Given the description of an element on the screen output the (x, y) to click on. 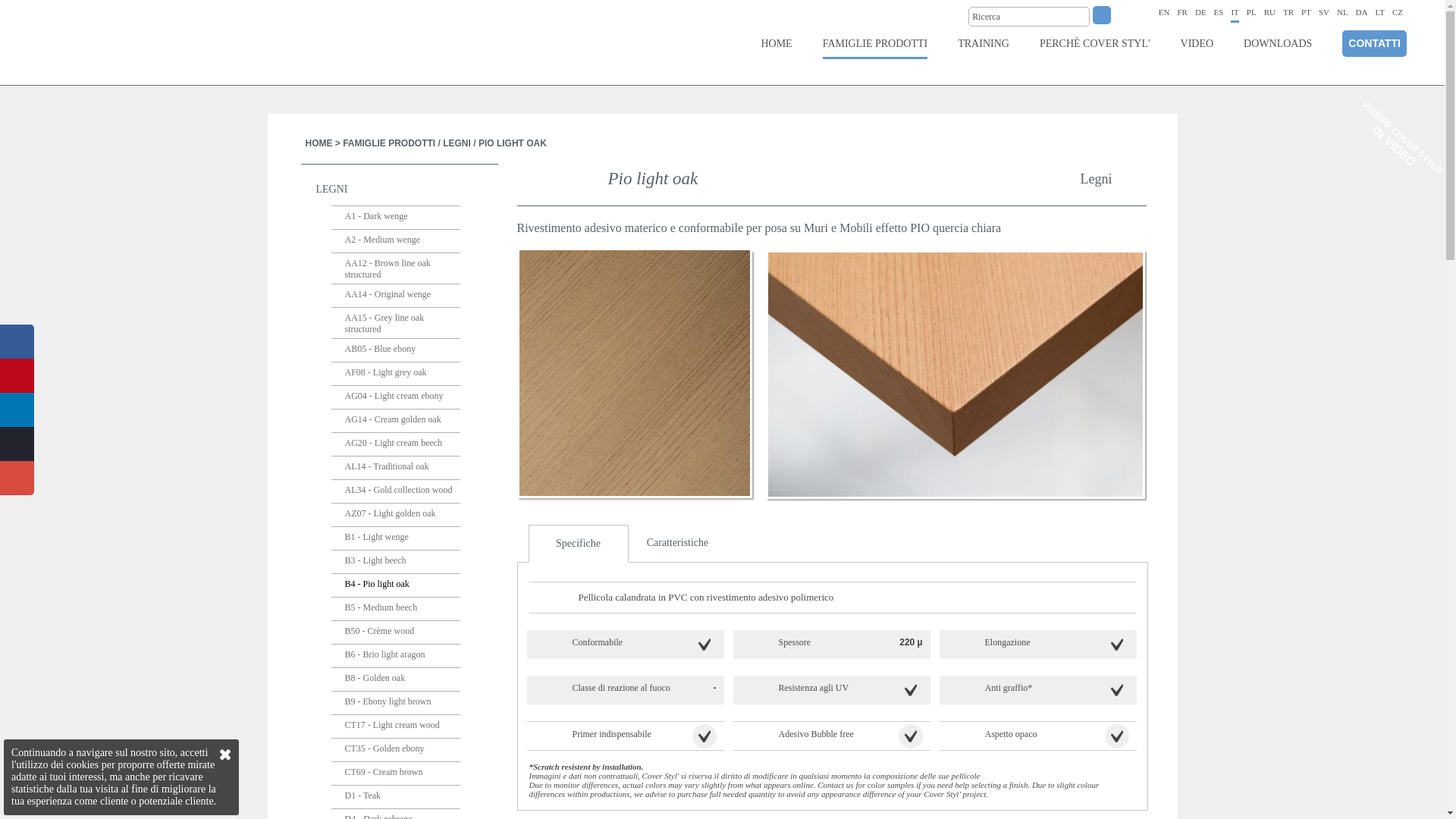
AA12 - Brown line oak structured Element type: text (394, 268)
CONTATTI Element type: text (1374, 43)
HOME Element type: text (318, 143)
ES Element type: text (1218, 11)
B3 - Light beech Element type: text (394, 562)
LT Element type: text (1379, 11)
SV Element type: text (1323, 11)
A1 - Dark wenge Element type: text (394, 217)
Legni Element type: text (1112, 174)
VIDEO Element type: text (1197, 43)
youtube Element type: text (17, 478)
AL34 - Gold collection wood Element type: text (394, 491)
EN Element type: text (1164, 11)
FAMIGLIE PRODOTTI Element type: text (875, 44)
RU Element type: text (1269, 11)
AA15 - Grey line oak structured Element type: text (394, 322)
B9 - Ebony light brown Element type: text (394, 703)
AG14 - Cream golden oak Element type: text (394, 421)
B4 - Pio light oak Element type: text (394, 585)
PL Element type: text (1251, 11)
B8 - Golden oak Element type: text (394, 679)
DOWNLOADS Element type: text (1277, 43)
AF08 - Light grey oak Element type: text (394, 373)
CT17 - Light cream wood Element type: text (394, 726)
AG04 - Light cream ebony Element type: text (394, 397)
LEGNI Element type: text (456, 143)
CZ Element type: text (1397, 11)
B1 - Light wenge Element type: text (394, 538)
ok Element type: text (1101, 15)
AG20 - Light cream beech Element type: text (394, 444)
B5 - Medium beech Element type: text (394, 609)
AB05 - Blue ebony Element type: text (394, 350)
facebook Element type: text (17, 341)
CT35 - Golden ebony Element type: text (394, 750)
AL14 - Traditional oak Element type: text (394, 468)
instagram Element type: text (17, 443)
DE Element type: text (1200, 11)
LEGNI Element type: text (398, 188)
AA14 - Original wenge Element type: text (394, 295)
linkedin Element type: text (17, 409)
CT69 - Cream brown Element type: text (394, 773)
FR Element type: text (1181, 11)
PT Element type: text (1306, 11)
TRAINING Element type: text (983, 43)
FAMIGLIE PRODOTTI Element type: text (388, 143)
A2 - Medium wenge Element type: text (394, 241)
TR Element type: text (1288, 11)
NL Element type: text (1342, 11)
D1 - Teak Element type: text (394, 797)
AZ07 - Light golden oak Element type: text (394, 515)
B6 - Brio light aragon Element type: text (394, 656)
HOME Element type: text (775, 43)
pinterest Element type: text (17, 375)
Coverstyl Element type: text (105, 42)
DA Element type: text (1361, 11)
PIO LIGHT OAK Element type: text (512, 143)
IT Element type: text (1234, 12)
